Given the description of an element on the screen output the (x, y) to click on. 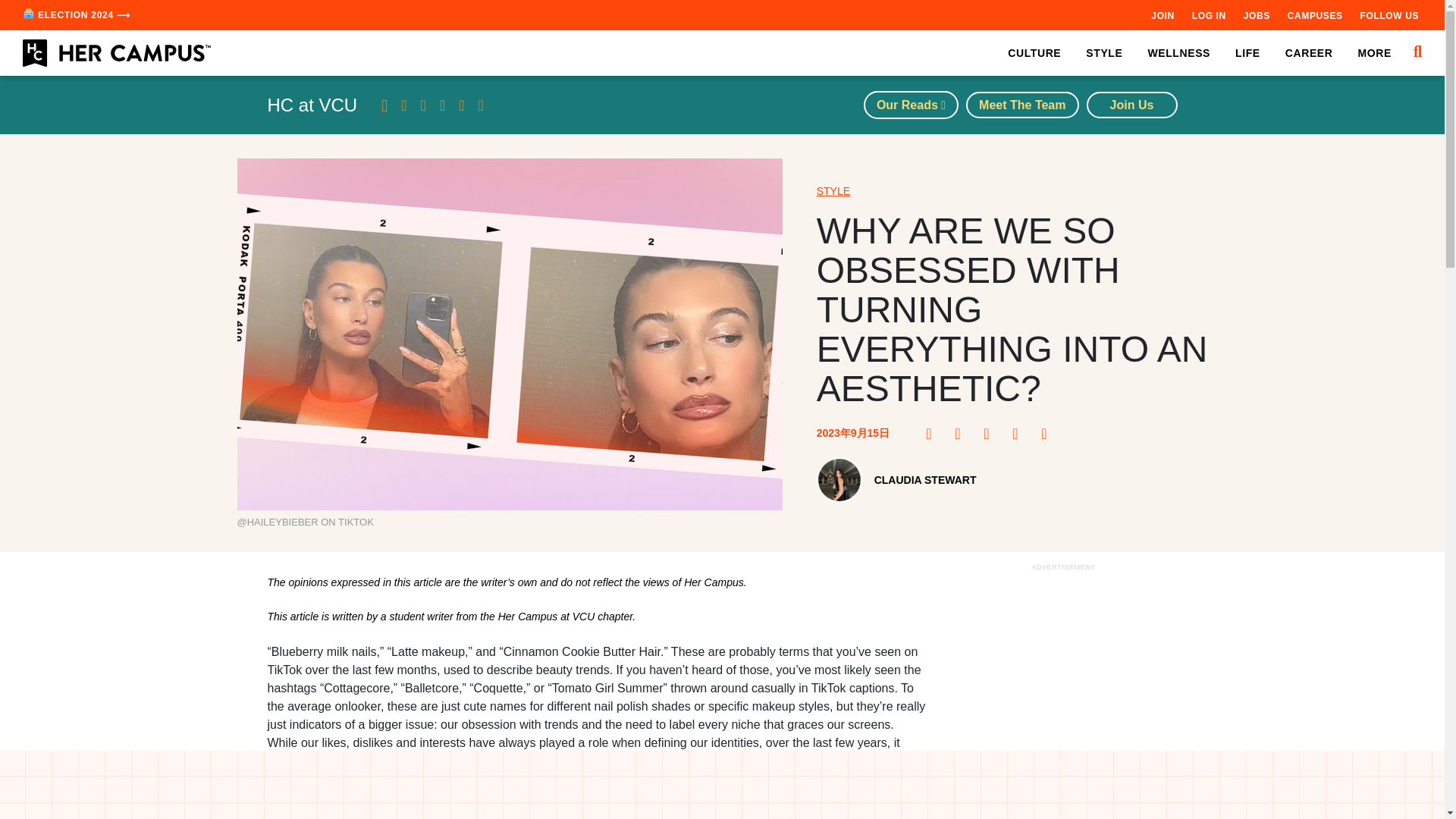
LinkedIn (1019, 433)
JOBS (1256, 15)
JOIN (1162, 15)
Facebook (933, 433)
Twitter (991, 433)
Pinterest (962, 433)
LOG IN (1208, 15)
Email (1049, 433)
CAMPUSES (1314, 15)
